Given the description of an element on the screen output the (x, y) to click on. 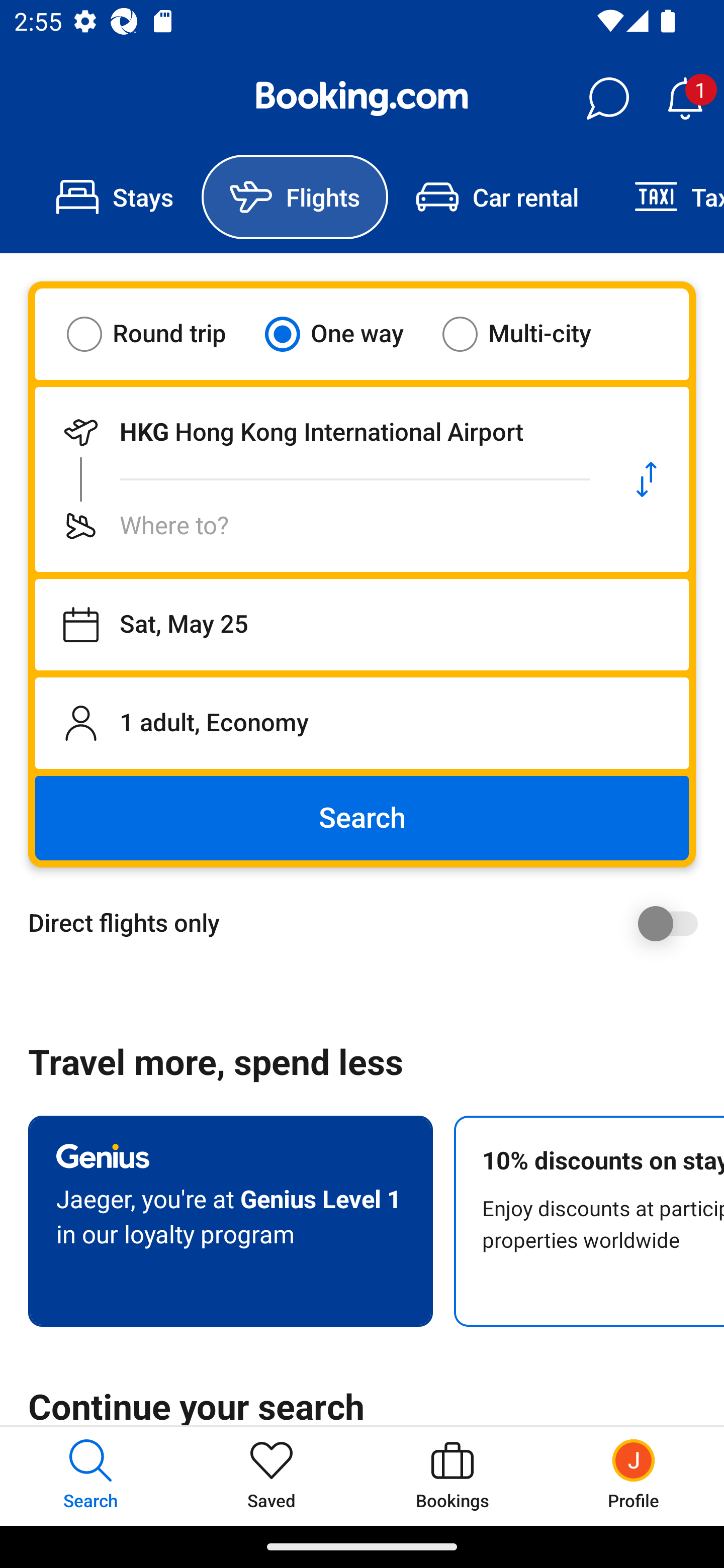
Messages (607, 98)
Notifications (685, 98)
Stays (114, 197)
Flights (294, 197)
Car rental (497, 197)
Taxi (665, 197)
Round trip (158, 333)
Multi-city (528, 333)
Departing from HKG Hong Kong International Airport (319, 432)
Swap departure location and destination (646, 479)
Flying to  (319, 525)
Departing on Sat, May 25 (361, 624)
1 adult, Economy (361, 722)
Search (361, 818)
Direct flights only (369, 923)
Saved (271, 1475)
Bookings (452, 1475)
Profile (633, 1475)
